Given the description of an element on the screen output the (x, y) to click on. 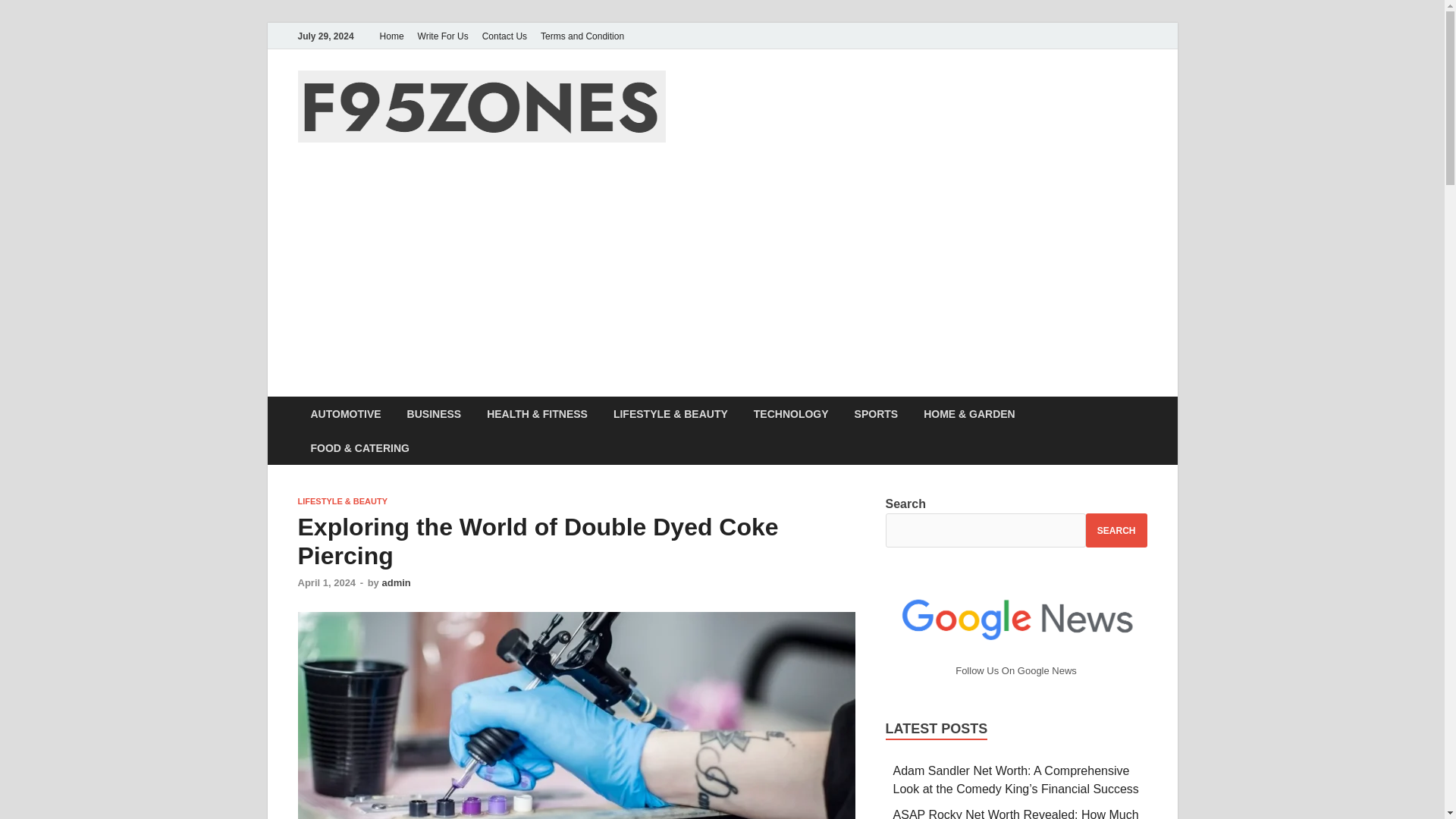
TECHNOLOGY (791, 413)
AUTOMOTIVE (345, 413)
Contact Us (505, 35)
Write For Us (443, 35)
SPORTS (876, 413)
BUSINESS (434, 413)
Home (391, 35)
Terms and Condition (582, 35)
April 1, 2024 (326, 582)
admin (395, 582)
